Given the description of an element on the screen output the (x, y) to click on. 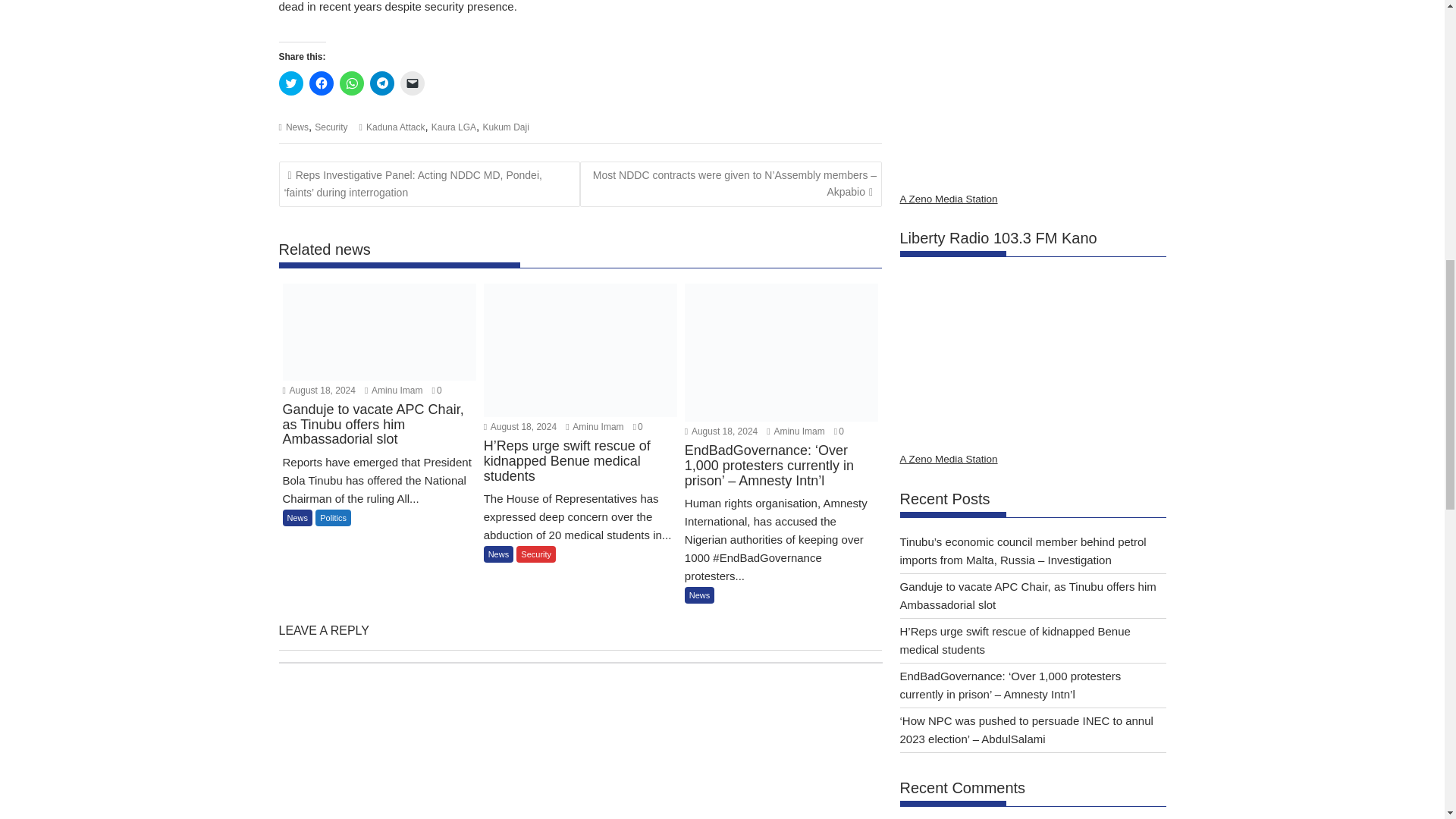
Kukum Daji (504, 127)
Kaura LGA (453, 127)
Click to share on Facebook (320, 83)
Aminu Imam (393, 389)
News (297, 517)
August 18, 2024 (318, 389)
Click to email a link to a friend (412, 83)
News (296, 127)
Aminu Imam (795, 430)
